Given the description of an element on the screen output the (x, y) to click on. 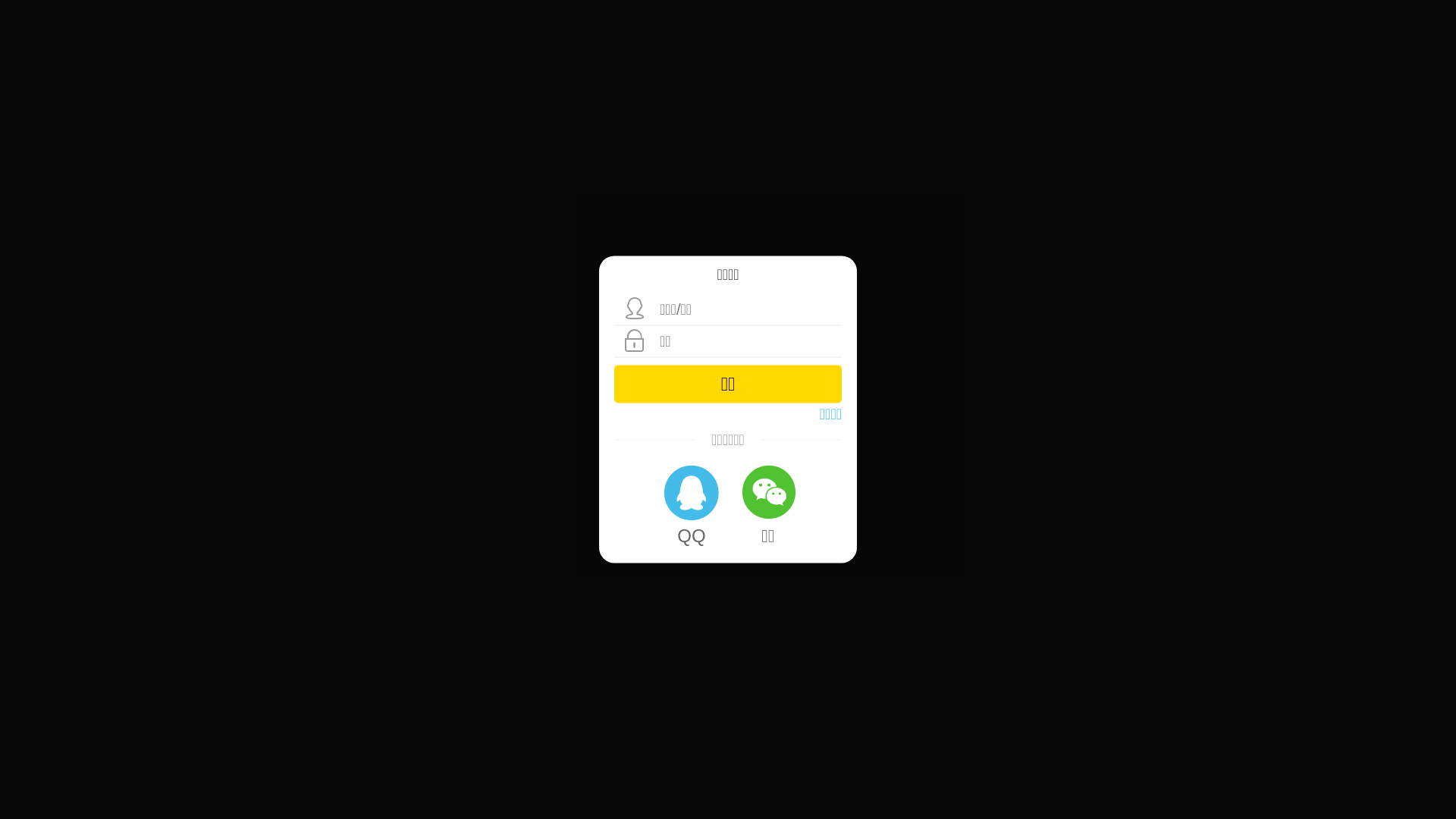
QQ Element type: text (690, 503)
